Given the description of an element on the screen output the (x, y) to click on. 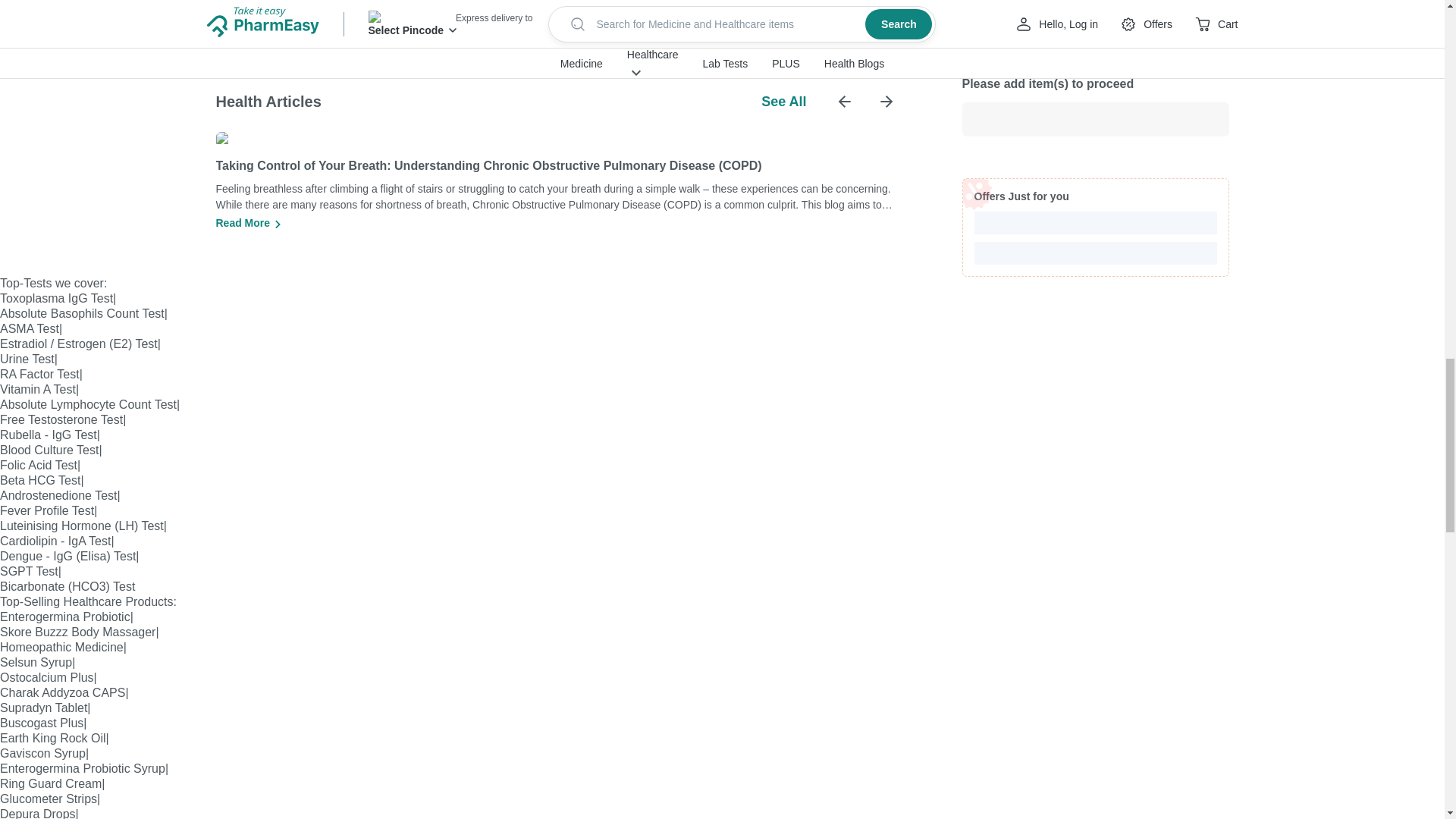
Urine Test (27, 358)
Absolute Basophils Count Test (82, 313)
See All (783, 101)
ASMA Test (29, 328)
Toxoplasma IgG Test (56, 297)
